Given the description of an element on the screen output the (x, y) to click on. 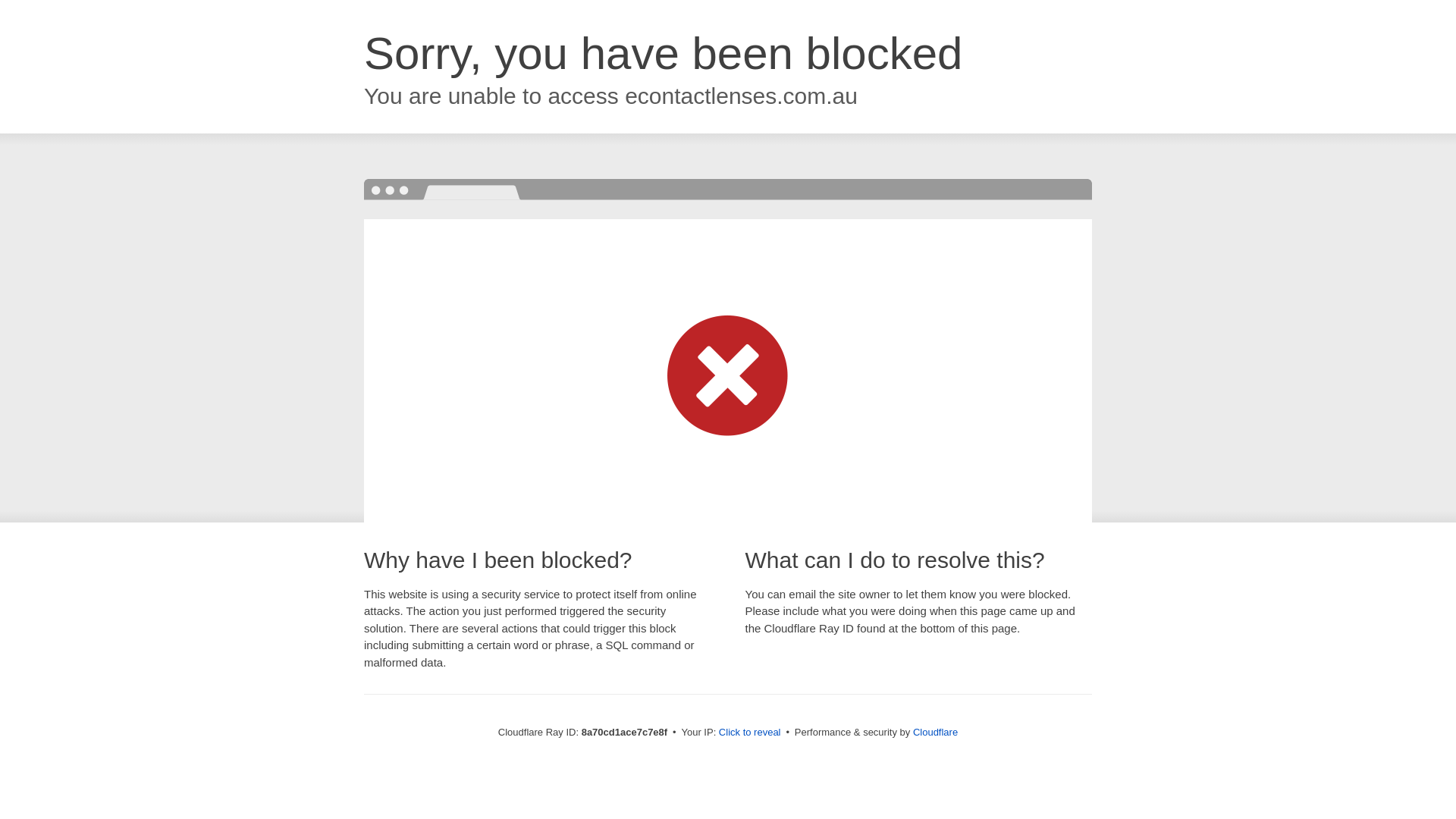
Cloudflare (935, 731)
Click to reveal (749, 732)
